Given the description of an element on the screen output the (x, y) to click on. 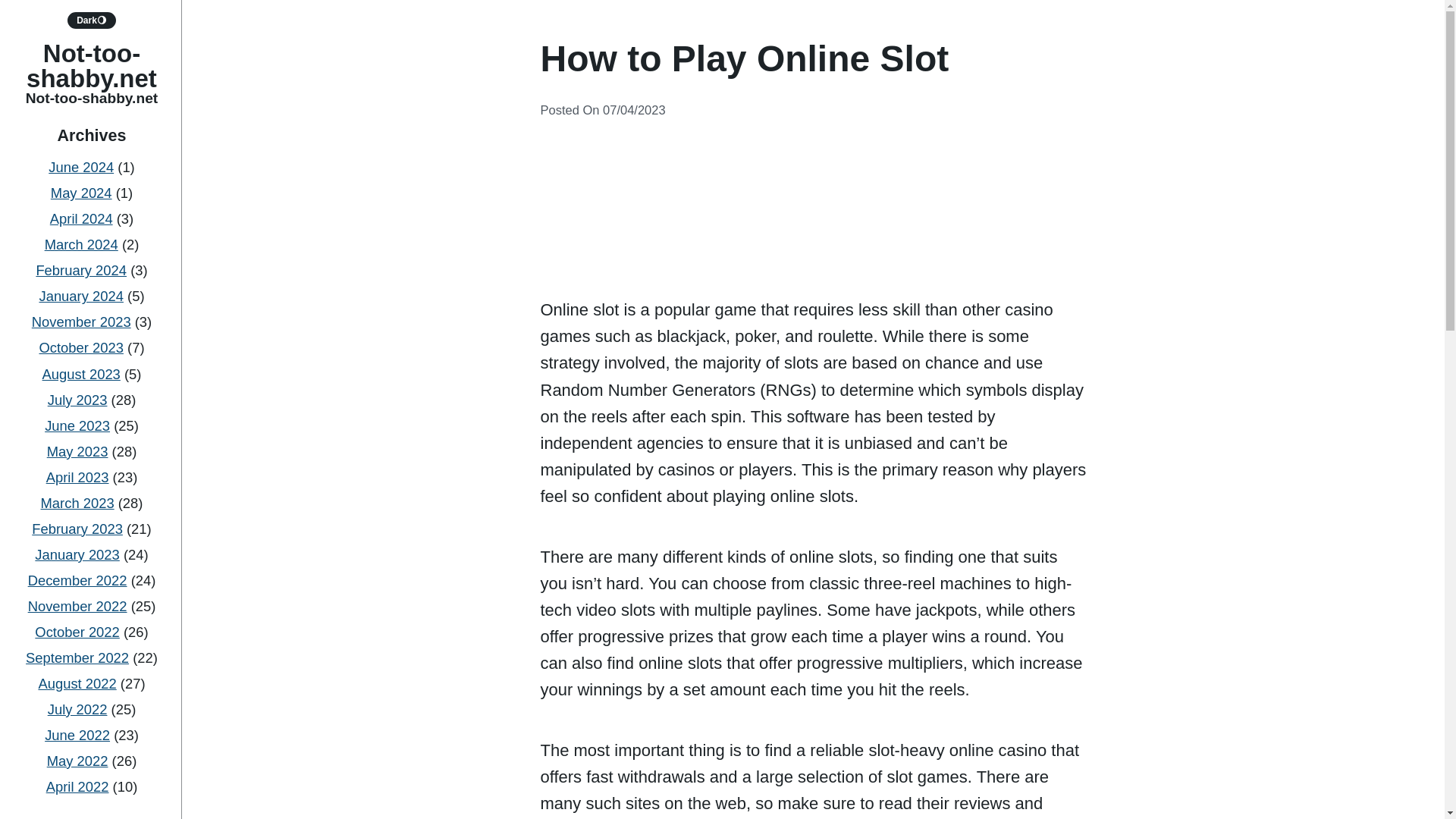
October 2022 (76, 631)
Not-too-shabby.net (91, 65)
June 2024 (80, 166)
July 2022 (77, 709)
April 2024 (81, 218)
April 2022 (77, 786)
March 2023 (77, 503)
January 2023 (76, 554)
June 2022 (77, 734)
November 2022 (77, 606)
September 2022 (77, 657)
June 2023 (77, 425)
May 2022 (76, 760)
December 2022 (77, 580)
August 2022 (76, 683)
